Given the description of an element on the screen output the (x, y) to click on. 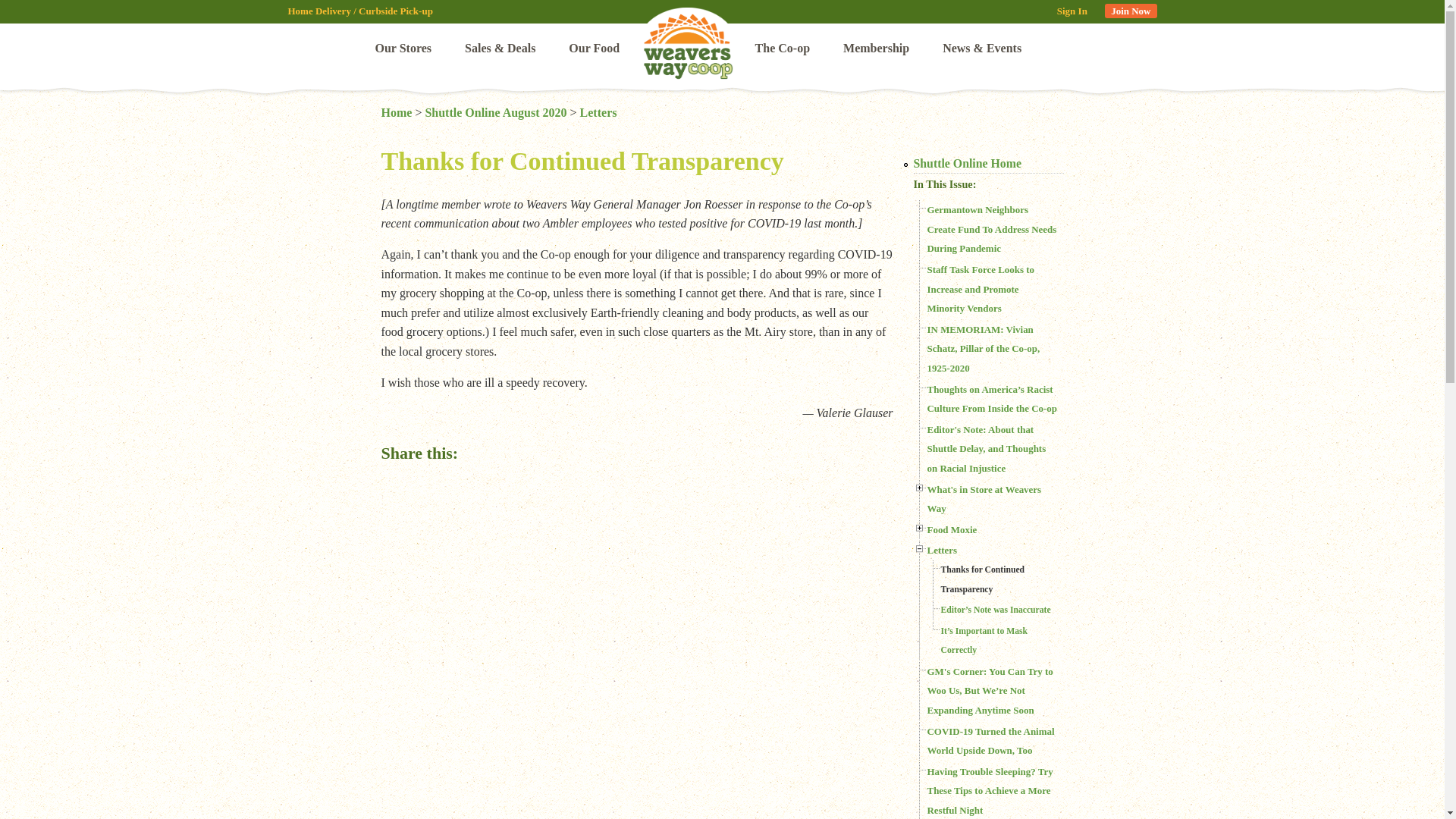
Sign In (1071, 10)
Our Stores (403, 48)
The Co-op (782, 48)
Membership (876, 48)
Our Food (593, 48)
Join Now (1130, 11)
Join Now (1130, 11)
